Given the description of an element on the screen output the (x, y) to click on. 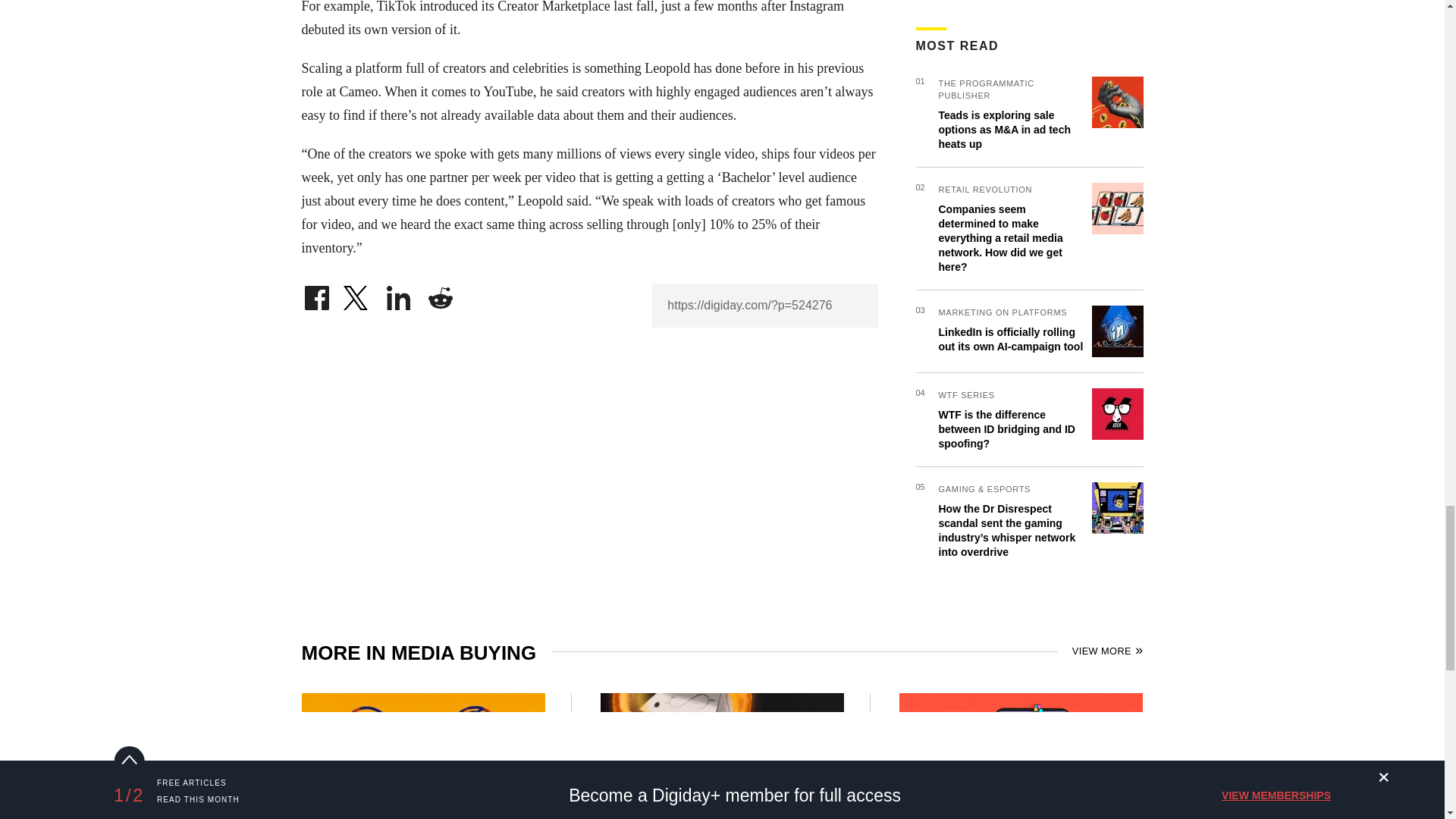
Share on LinkedIn (398, 294)
Share on Reddit (440, 294)
Share on Twitter (357, 294)
Share on Facebook (316, 294)
